Given the description of an element on the screen output the (x, y) to click on. 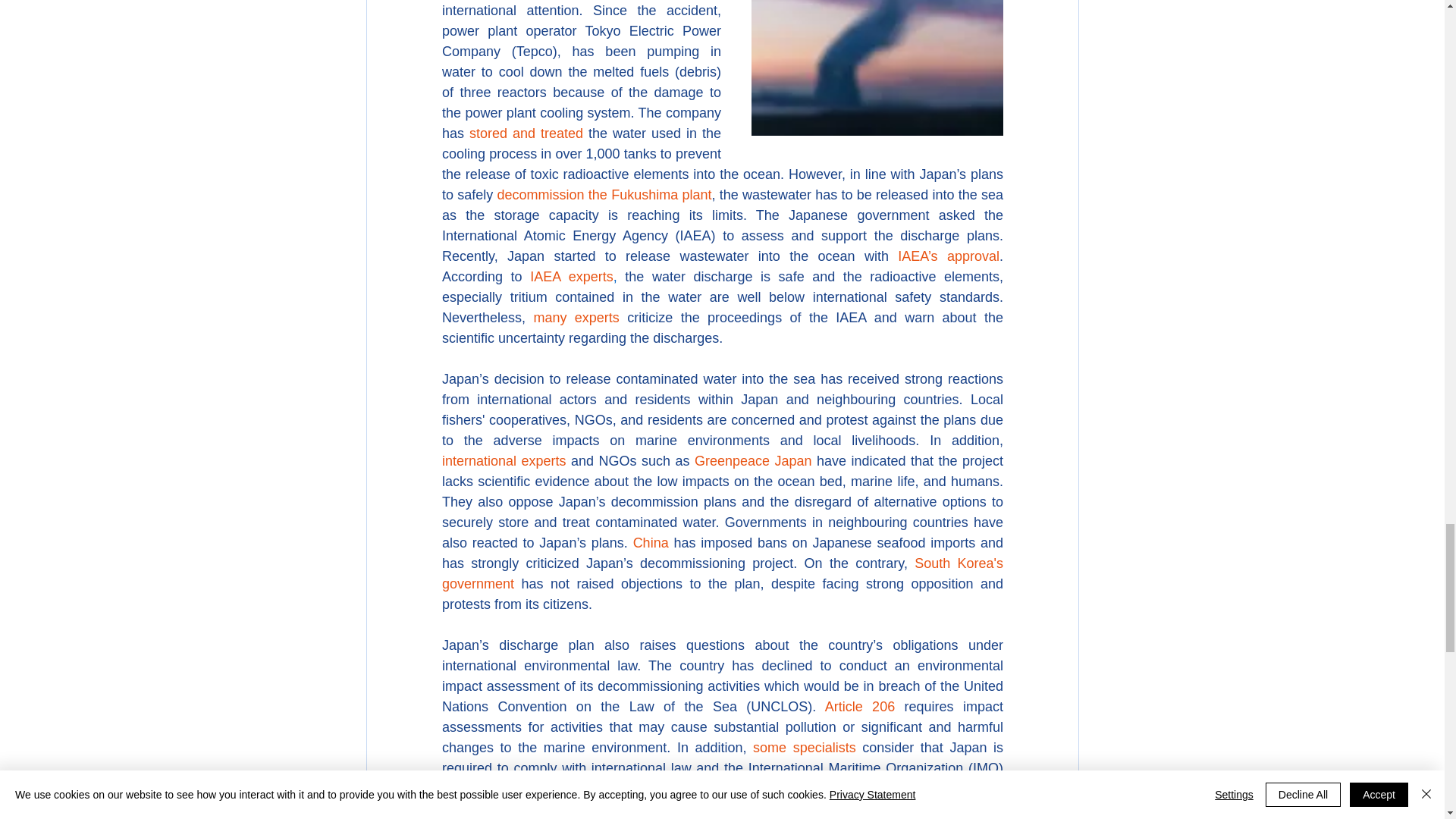
Greenpeace Japan (752, 460)
stored and treated (525, 133)
decommission the Fukushima plant (603, 194)
China (649, 542)
IAEA experts (570, 276)
international experts (503, 460)
many experts (575, 317)
